Given the description of an element on the screen output the (x, y) to click on. 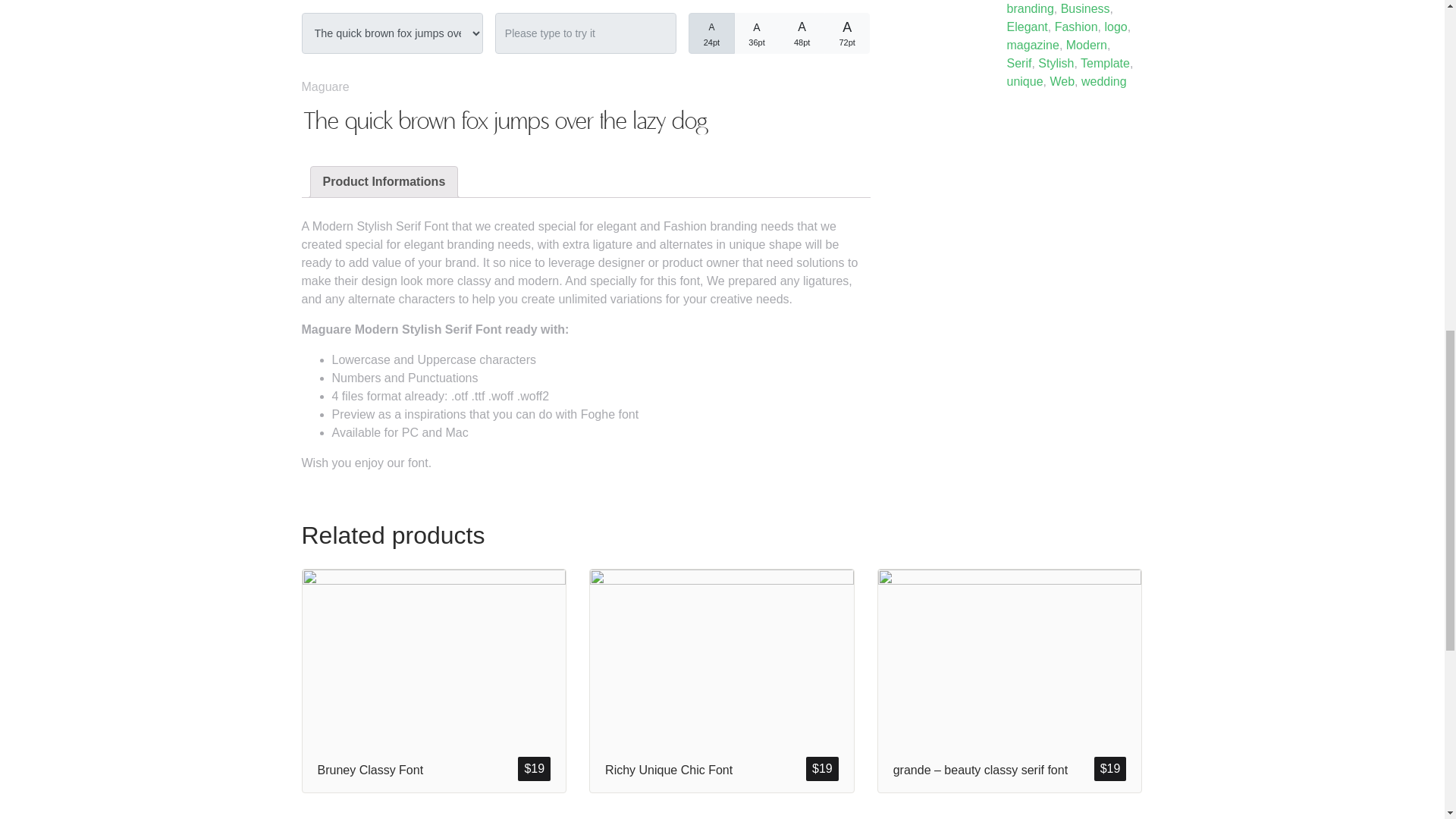
Serif (1019, 62)
logo (1114, 26)
48 (762, 22)
Stylish (1056, 62)
Product Informations (384, 182)
branding (1030, 8)
Elegant (1027, 26)
96 (852, 22)
magazine (1033, 44)
64 (807, 22)
